Given the description of an element on the screen output the (x, y) to click on. 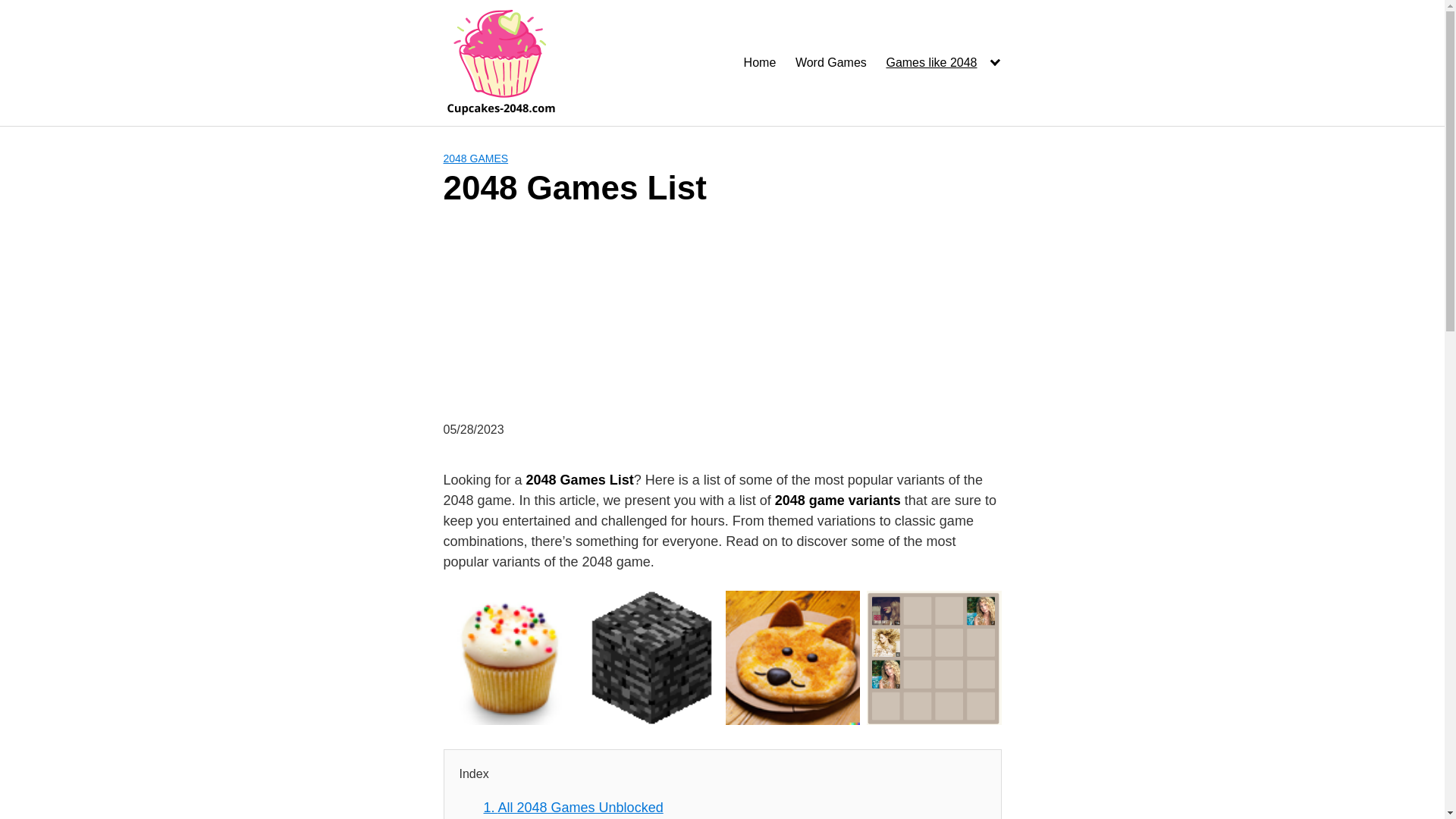
2048 GAMES (475, 158)
Advertisement (745, 314)
Games like 2048 (943, 62)
Home (760, 62)
Word Games (830, 62)
1. All 2048 Games Unblocked (573, 807)
